Given the description of an element on the screen output the (x, y) to click on. 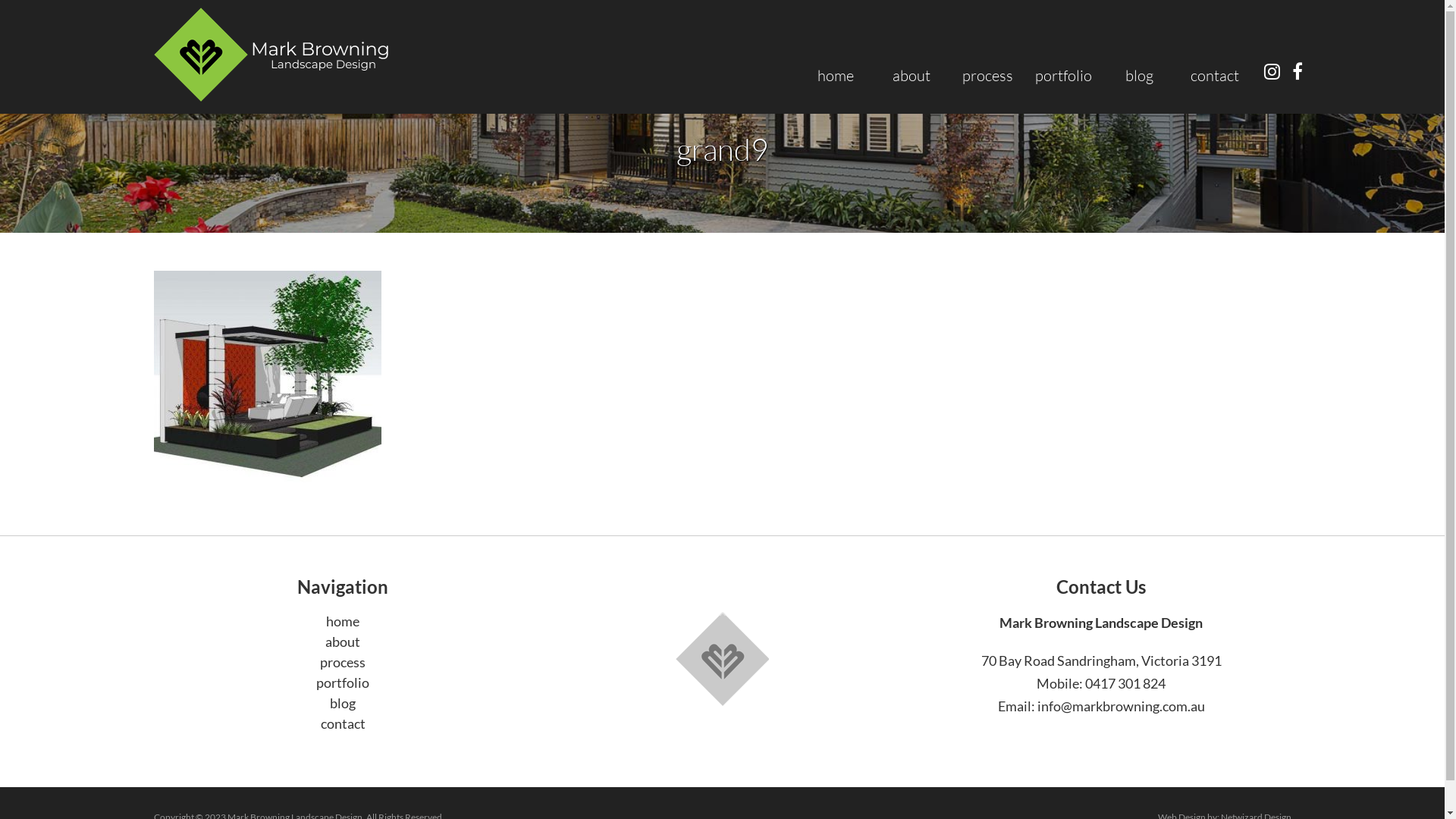
process Element type: text (987, 75)
blog Element type: text (342, 702)
home Element type: text (835, 75)
process Element type: text (342, 661)
contact Element type: text (1214, 75)
portfolio Element type: text (1063, 75)
about Element type: text (342, 641)
about Element type: text (911, 75)
blog Element type: text (1138, 75)
home Element type: text (342, 620)
contact Element type: text (342, 723)
portfolio Element type: text (342, 682)
